Given the description of an element on the screen output the (x, y) to click on. 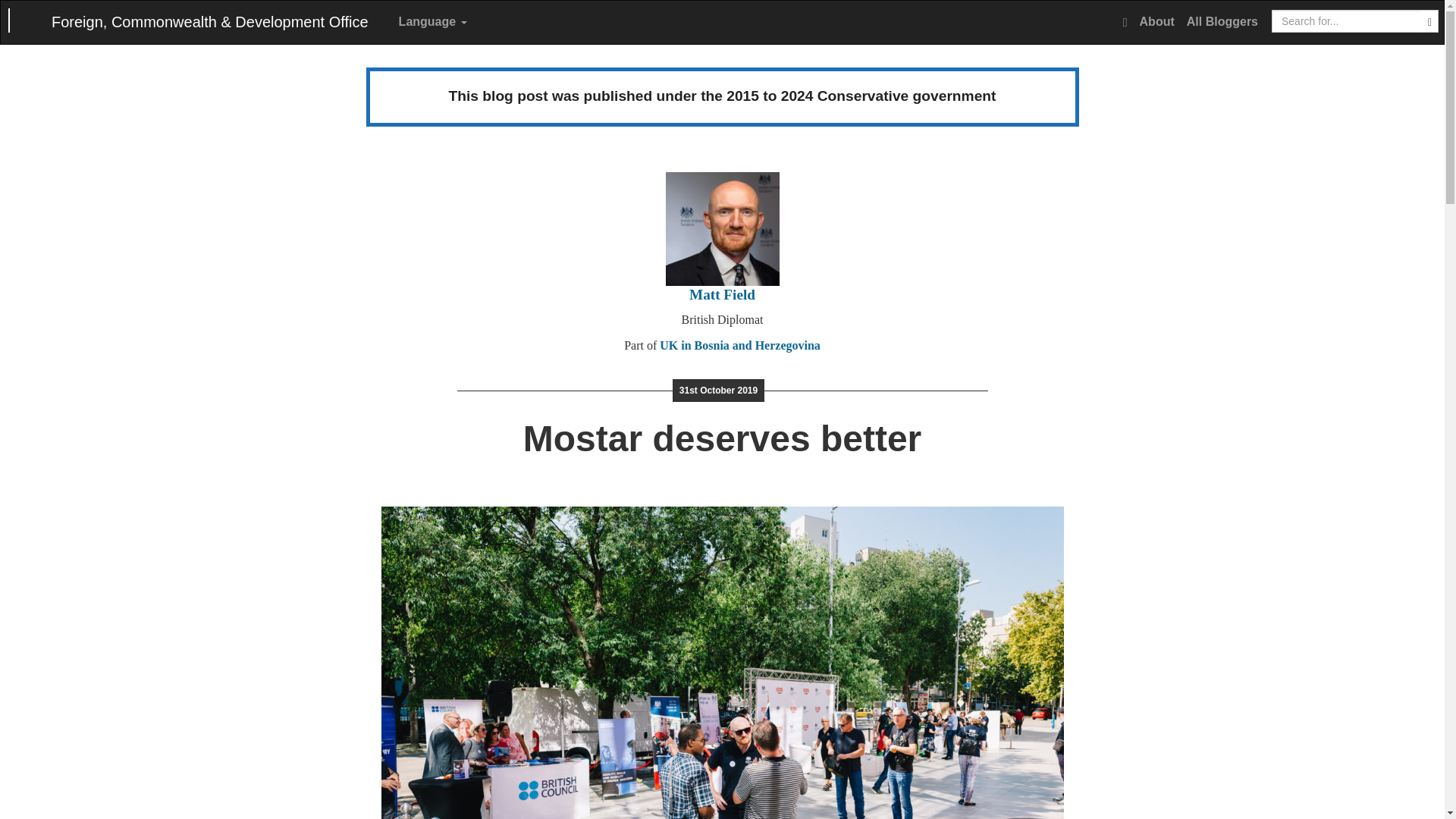
Matt Field (721, 294)
All Bloggers (1221, 21)
About (1157, 21)
UK in Bosnia and Herzegovina (740, 345)
Language (433, 21)
View all posts in UK in Bosnia and Herzegovina (740, 345)
About (1157, 21)
All Bloggers (1221, 21)
